Given the description of an element on the screen output the (x, y) to click on. 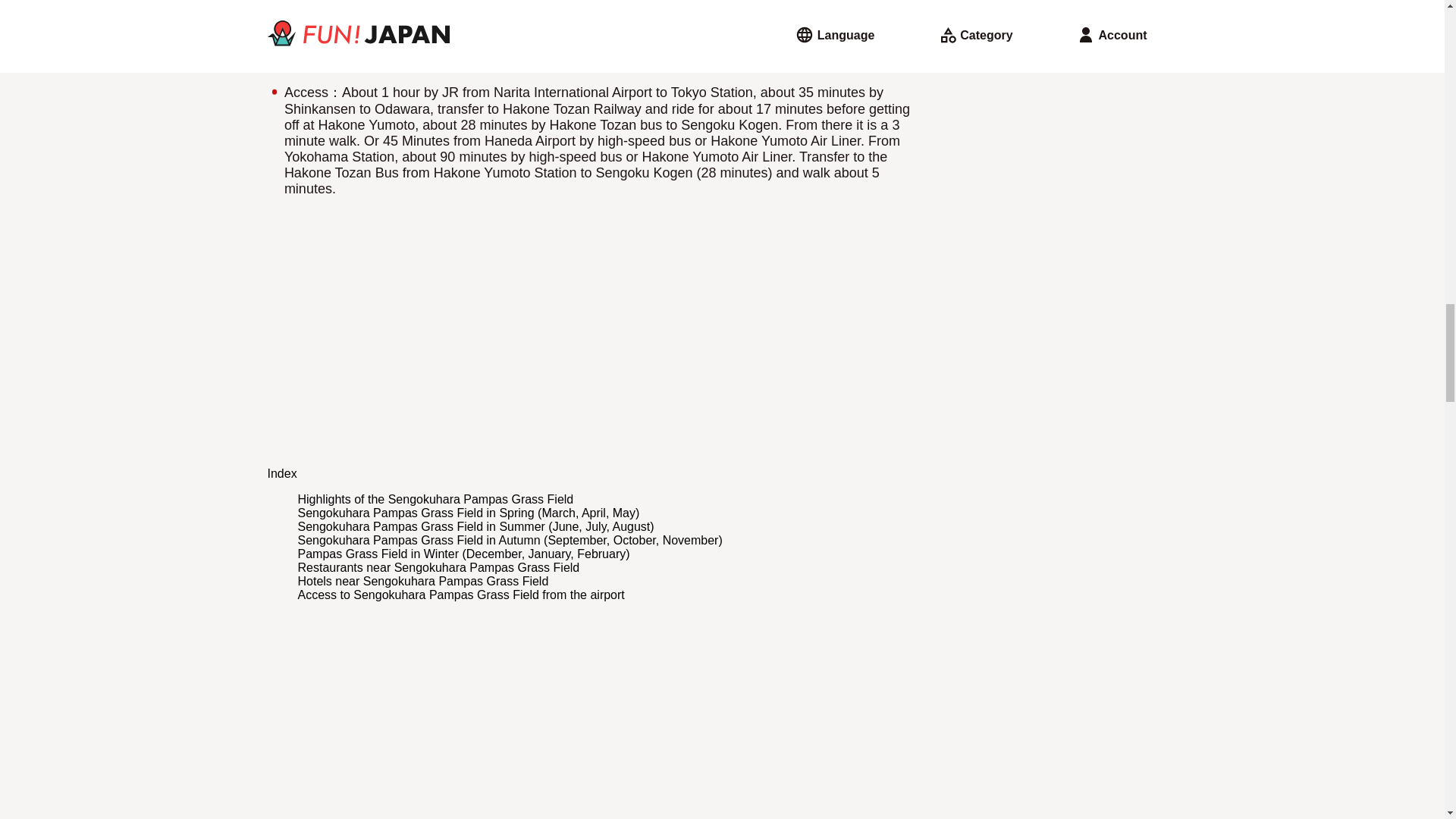
Highlights of the Sengokuhara Pampas Grass Field (435, 499)
Hotels near Sengokuhara Pampas Grass Field (422, 581)
Access to Sengokuhara Pampas Grass Field from the airport (460, 594)
Restaurants near Sengokuhara Pampas Grass Field (438, 567)
